Given the description of an element on the screen output the (x, y) to click on. 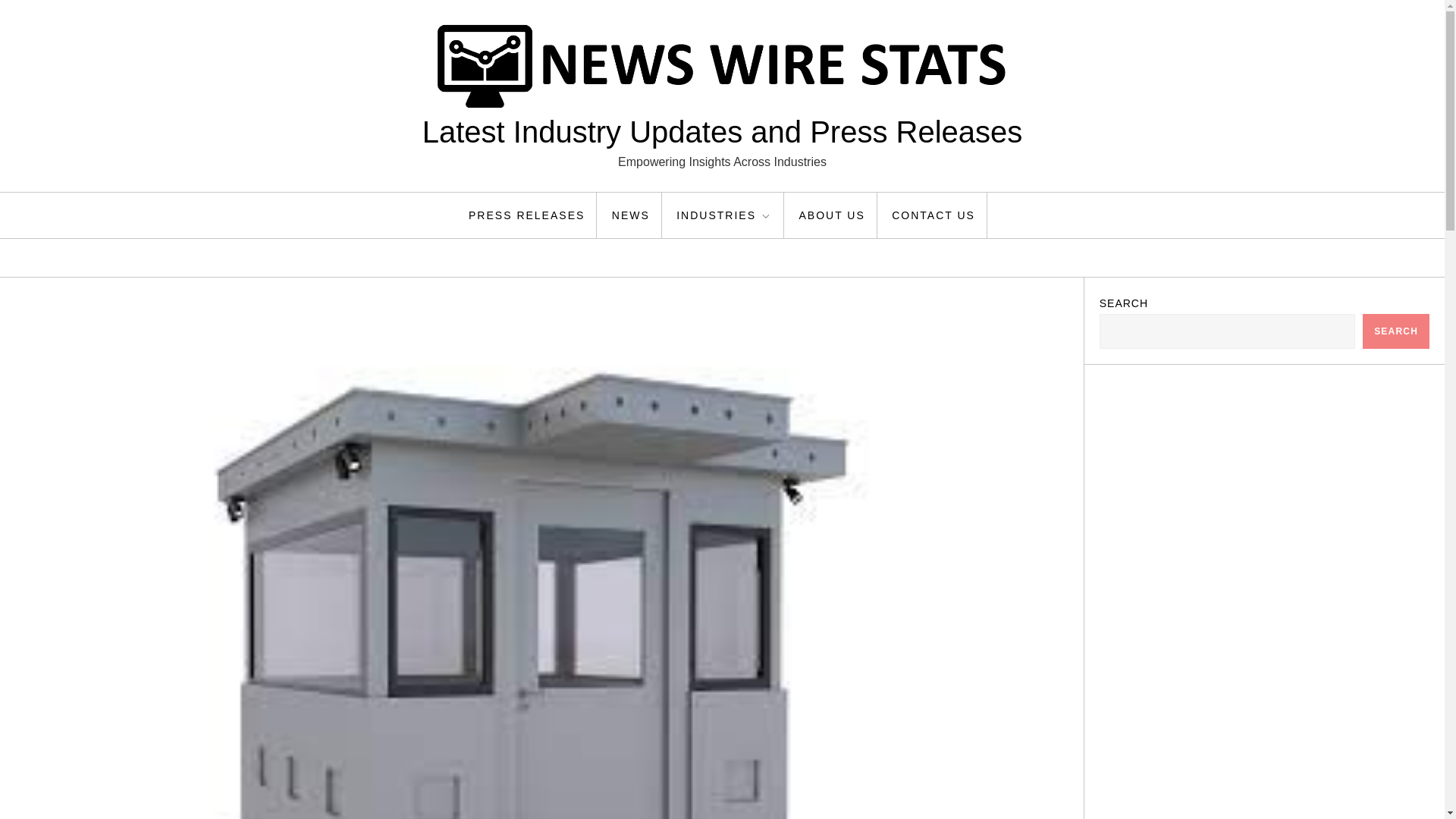
CONTACT US (933, 215)
NEWS (630, 215)
Latest Industry Updates and Press Releases (722, 131)
ABOUT US (831, 215)
INDUSTRIES (724, 215)
PRESS RELEASES (526, 215)
SEARCH (1395, 330)
